Given the description of an element on the screen output the (x, y) to click on. 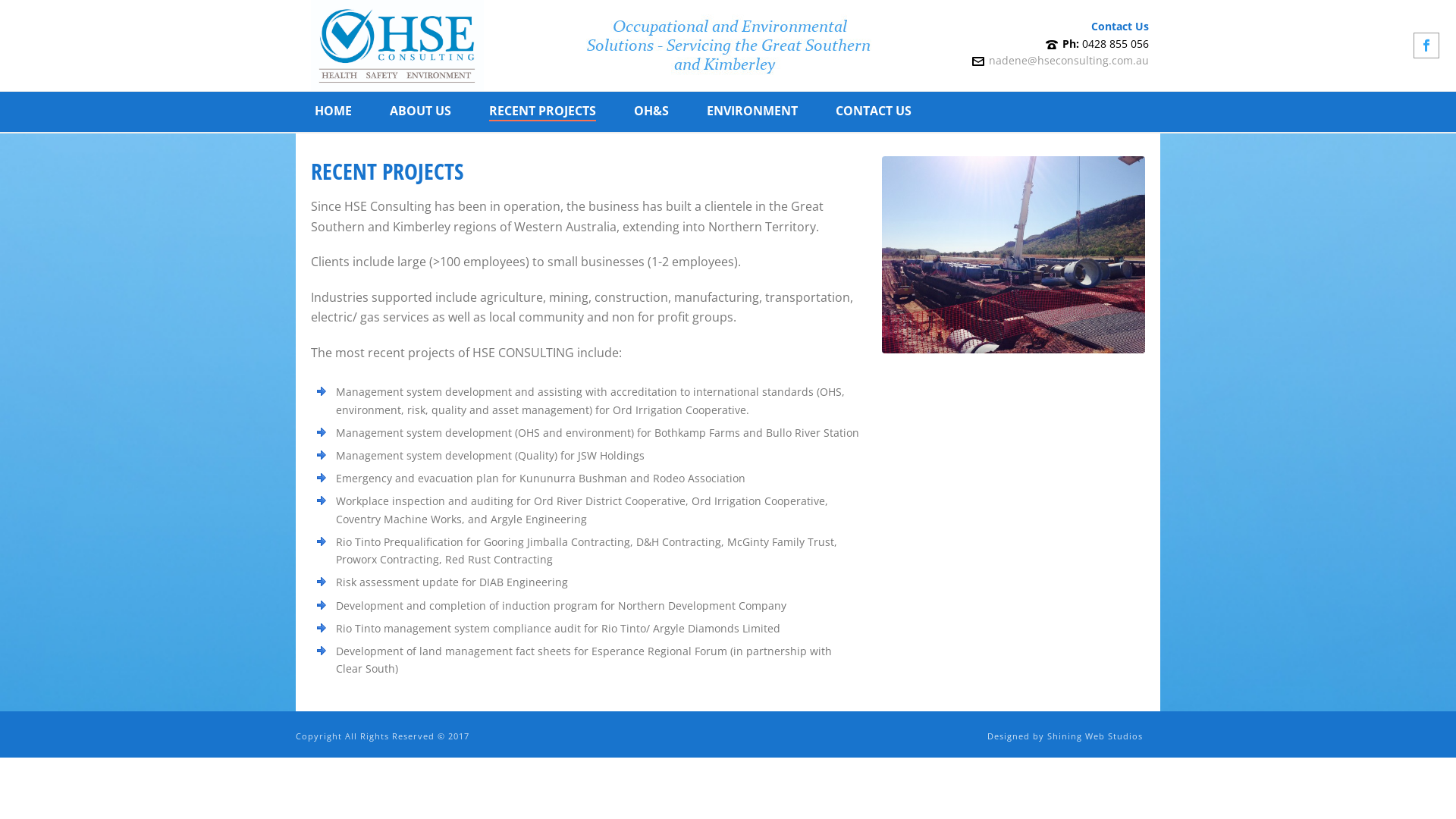
ENVIRONMENT Element type: text (751, 111)
HOME Element type: text (332, 111)
OH&S Element type: text (651, 111)
nadene@hseconsulting.com.au Element type: text (1068, 60)
Shining Web Studios Element type: text (1094, 735)
ABOUT US Element type: text (420, 111)
facebook Element type: hover (1426, 45)
RECENT PROJECTS Element type: text (542, 111)
CONTACT US Element type: text (873, 111)
